Given the description of an element on the screen output the (x, y) to click on. 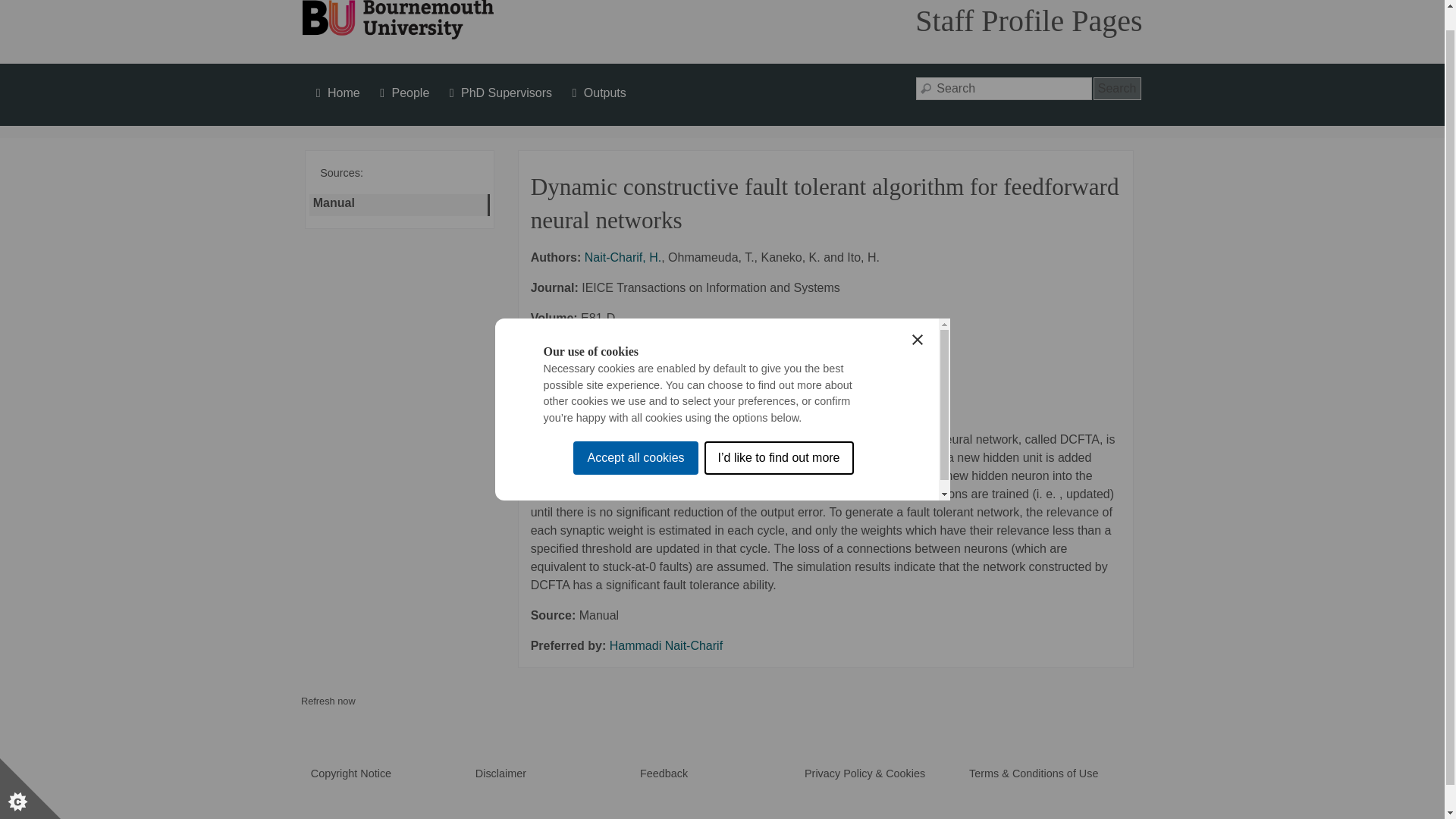
Bournemouth University (397, 20)
Hammadi Nait-Charif (666, 645)
Home (334, 92)
Feedback (663, 773)
Nait-Charif, H. (623, 256)
Accept all cookies (635, 672)
PhD Supervisors (498, 92)
People (402, 92)
Disclaimer (500, 773)
Copyright Notice (351, 773)
Staff Profile Pages (1028, 20)
Search (1117, 87)
Outputs (597, 92)
Refresh now (328, 700)
Search (1117, 87)
